Given the description of an element on the screen output the (x, y) to click on. 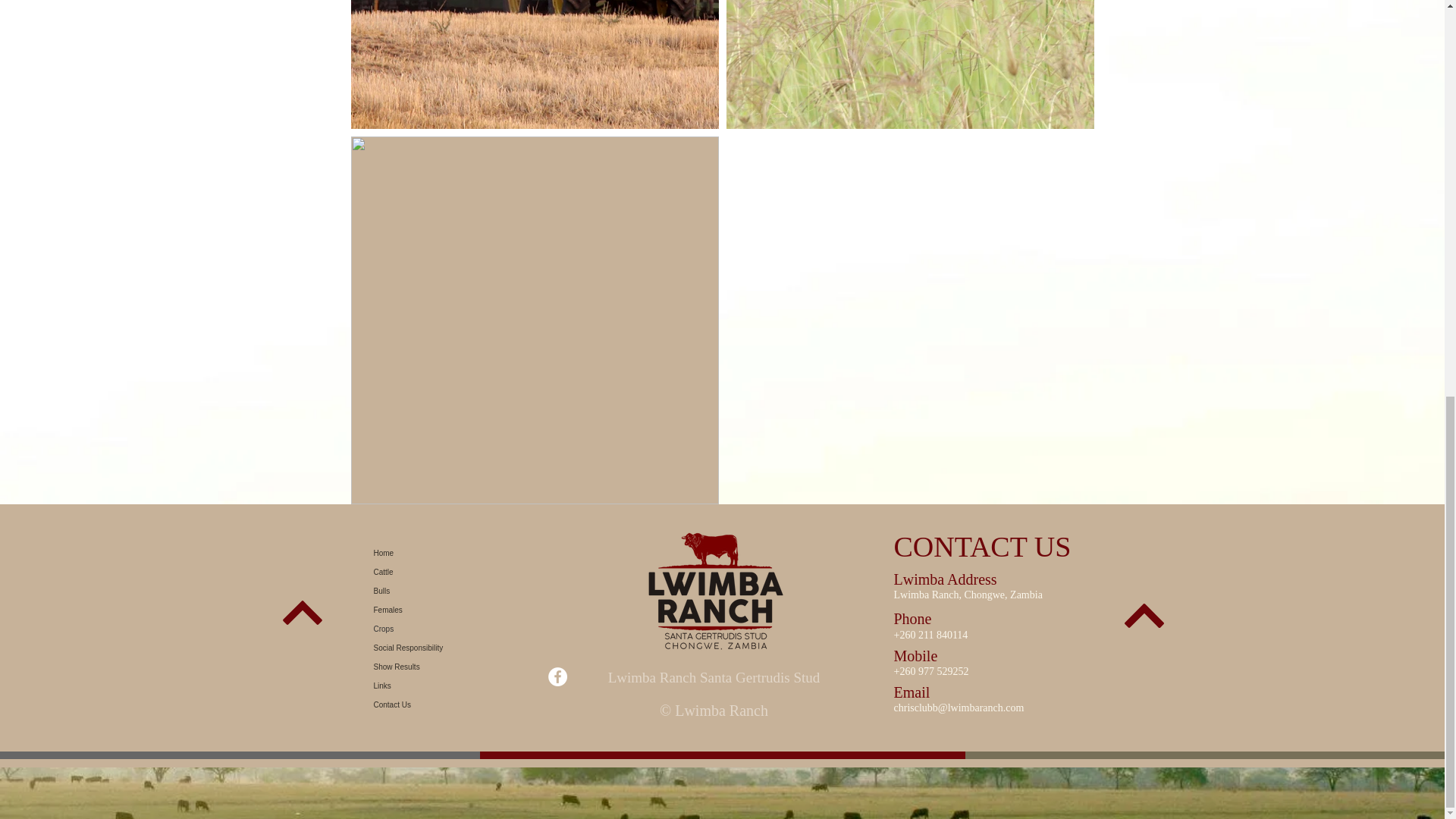
Home (440, 552)
Bulls (440, 590)
Cattle (440, 571)
